Given the description of an element on the screen output the (x, y) to click on. 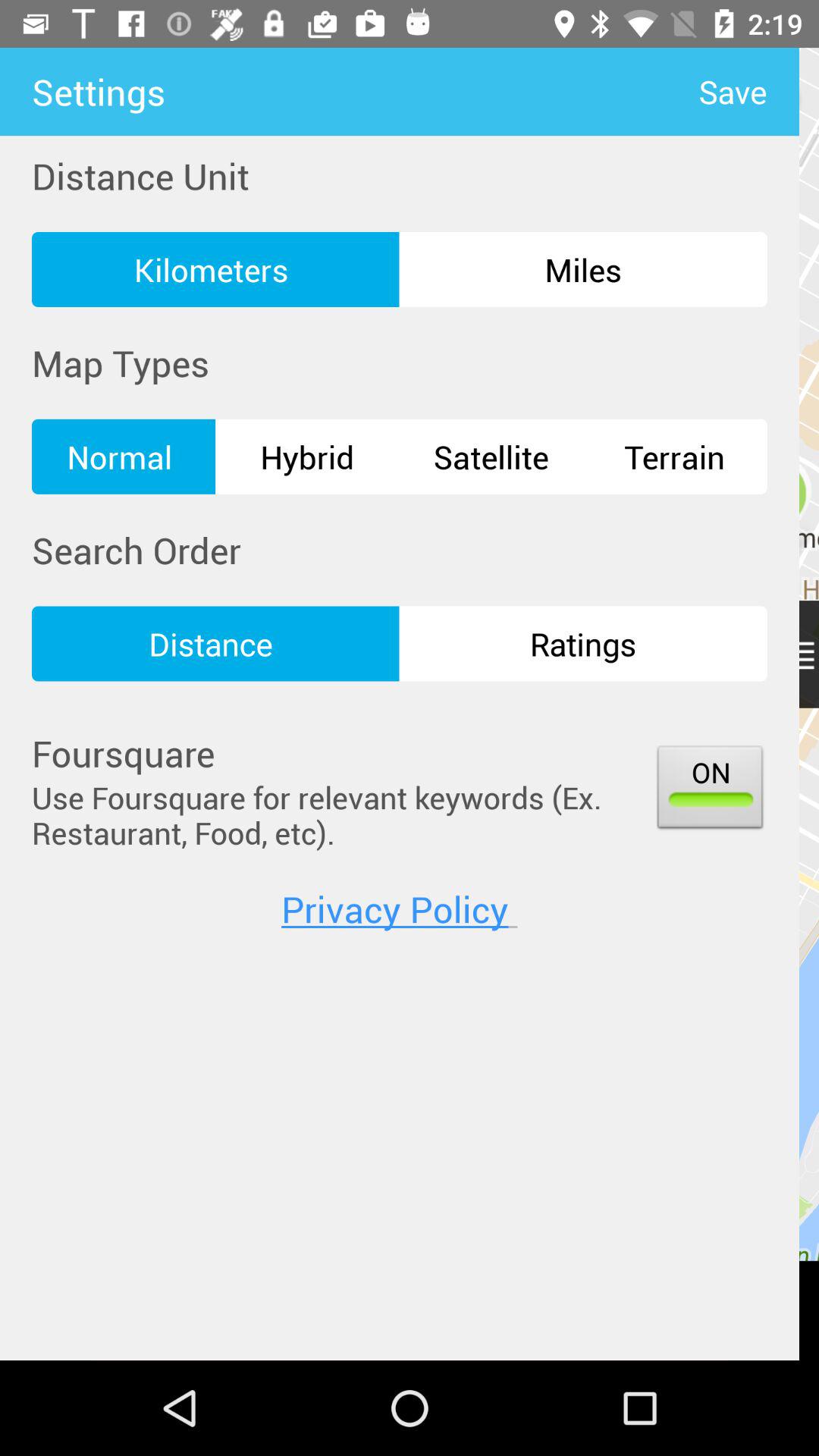
flip until satellite icon (490, 456)
